Given the description of an element on the screen output the (x, y) to click on. 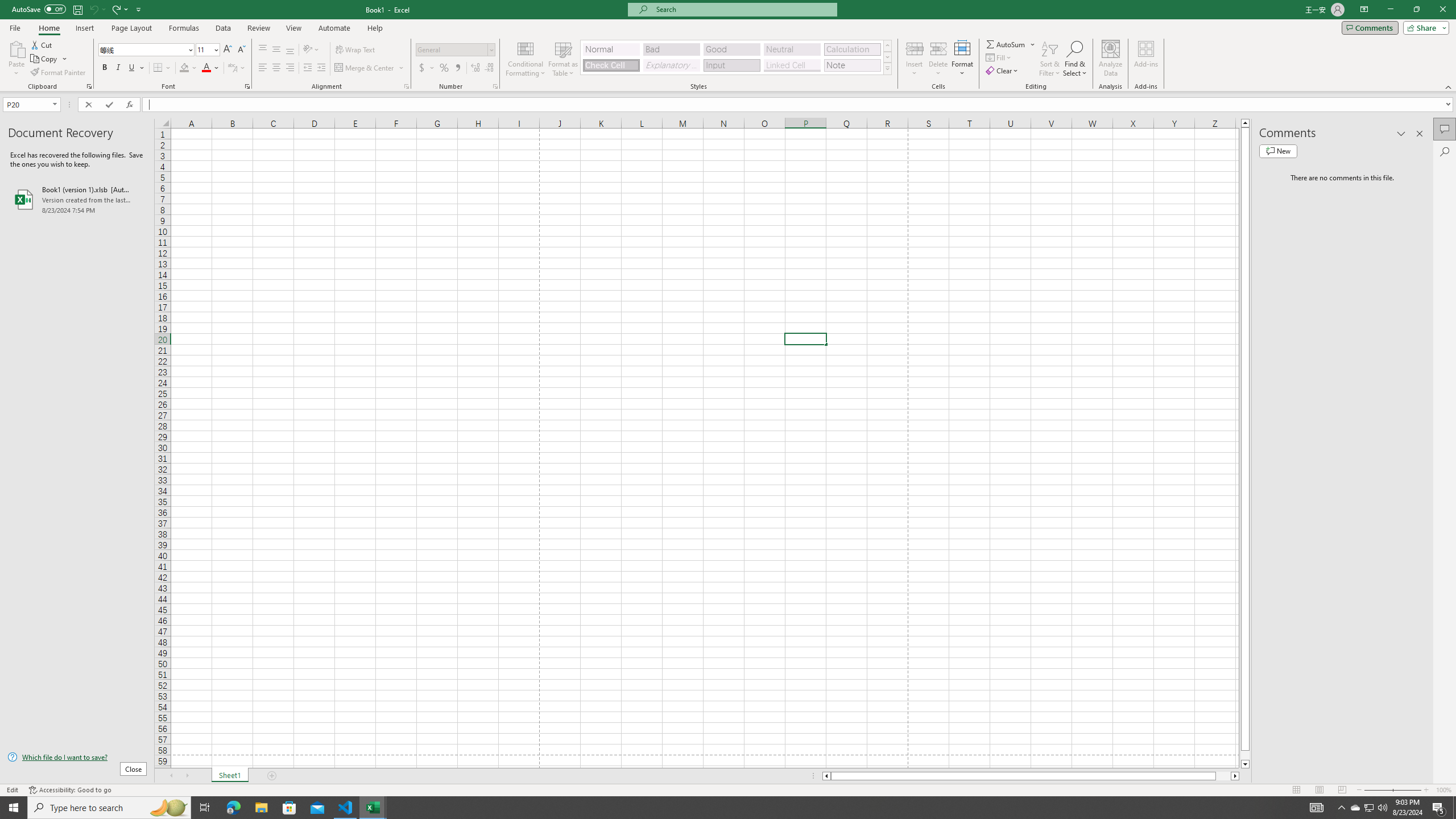
Data (223, 28)
Bold (104, 67)
Line up (1245, 122)
Office Clipboard... (88, 85)
Copy (45, 58)
Format Painter (58, 72)
Format Cell Number (494, 85)
Page down (1245, 755)
Sum (1006, 44)
Delete Cells... (938, 48)
Conditional Formatting (525, 58)
Class: MsoCommandBar (728, 45)
Paste (16, 58)
Format Cell Font (247, 85)
